Given the description of an element on the screen output the (x, y) to click on. 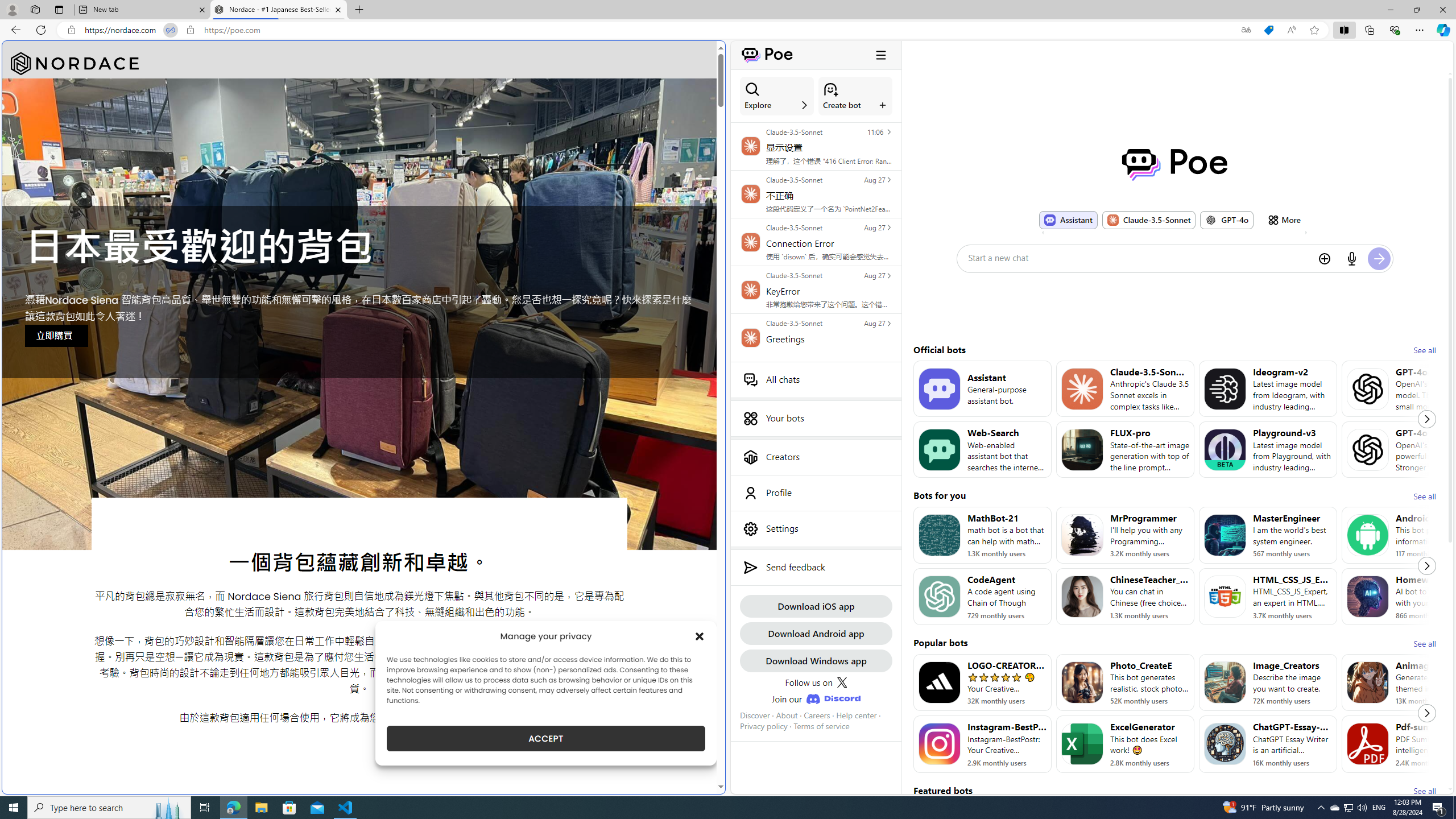
Follow us on (815, 682)
Bot image for Homeworkbot679 (1367, 596)
Poe (1174, 164)
Bot image for Ideogram-v2 (1224, 388)
Bot image for AnimagineXL (1367, 682)
Bot image for Assistant Assistant (1068, 219)
